Given the description of an element on the screen output the (x, y) to click on. 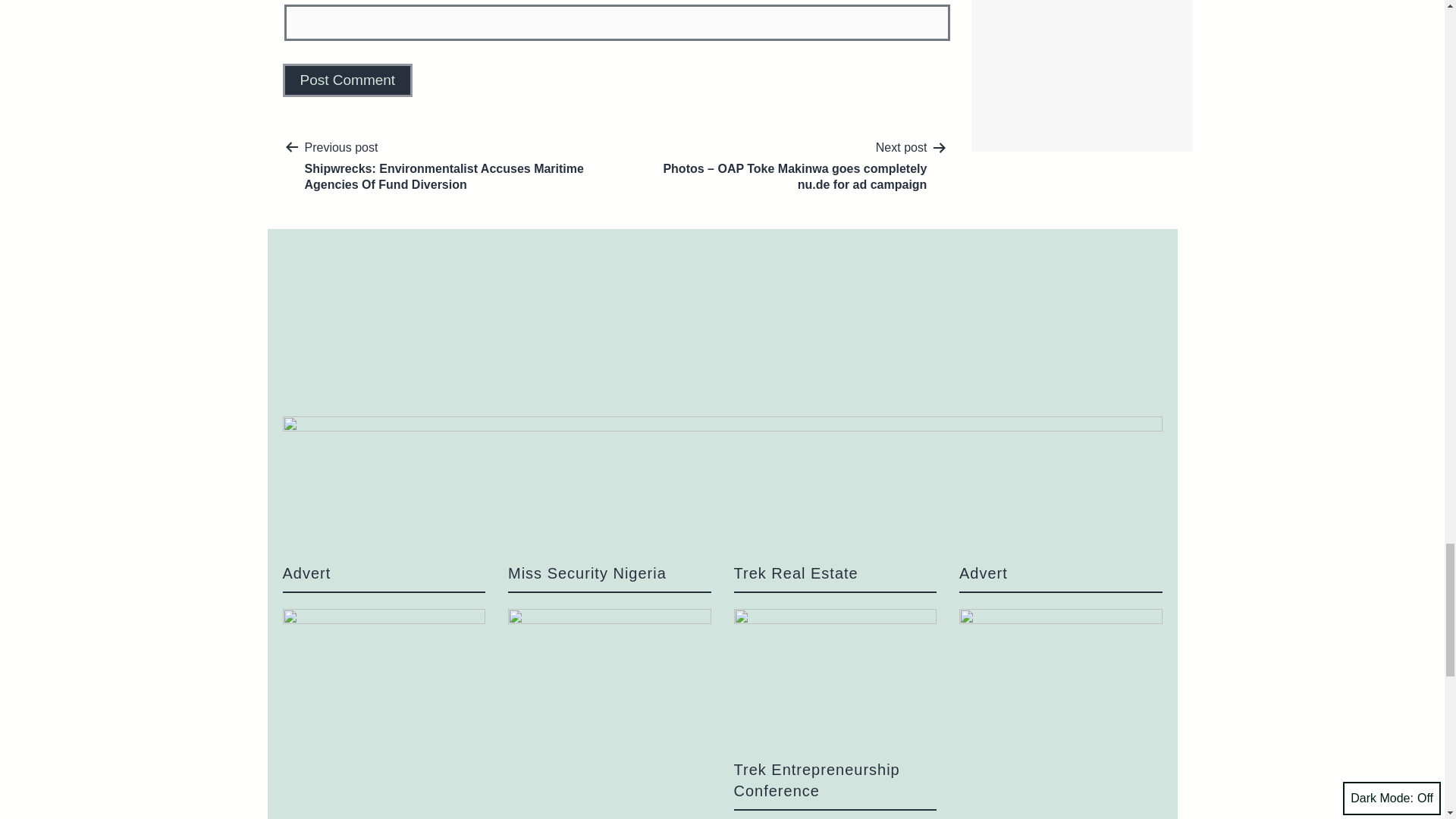
Post Comment (347, 80)
